Given the description of an element on the screen output the (x, y) to click on. 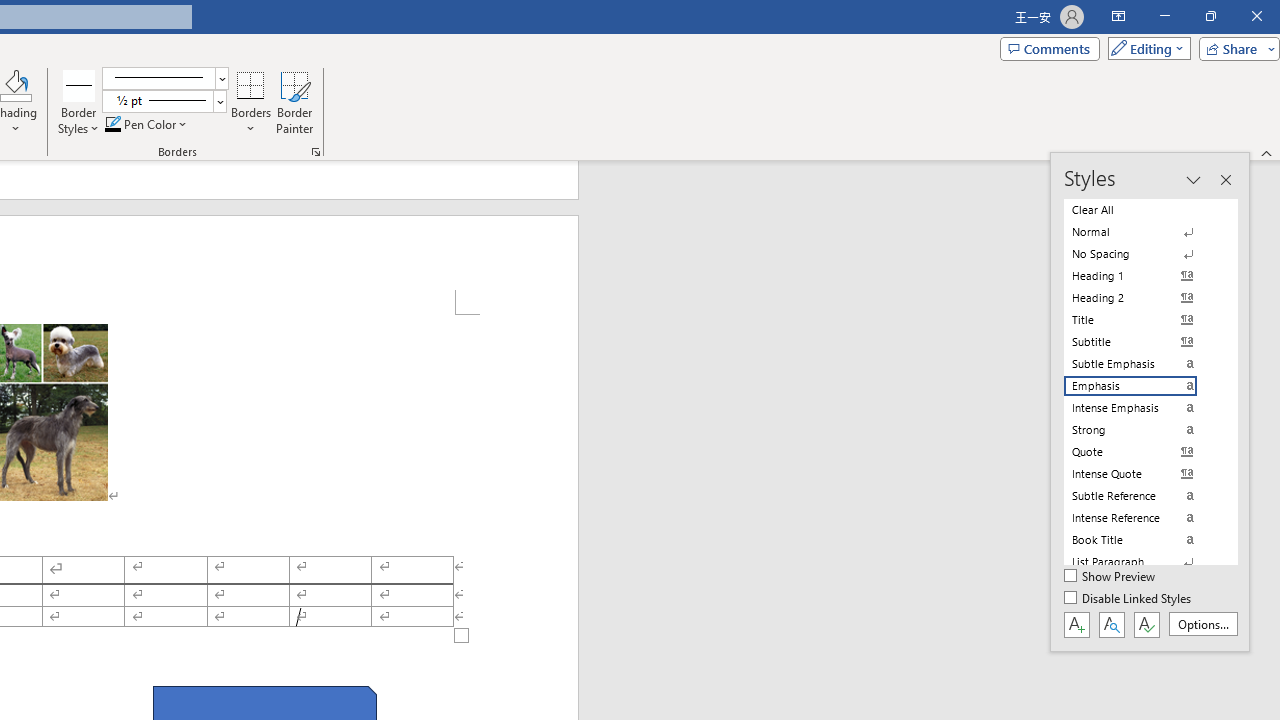
Intense Quote (1142, 473)
Disable Linked Styles (1129, 599)
Quote (1142, 451)
No Spacing (1142, 253)
Border Painter (294, 102)
Intense Emphasis (1142, 407)
Subtle Reference (1142, 495)
Border Styles (79, 84)
Subtle Emphasis (1142, 363)
Pen Color (147, 124)
